Given the description of an element on the screen output the (x, y) to click on. 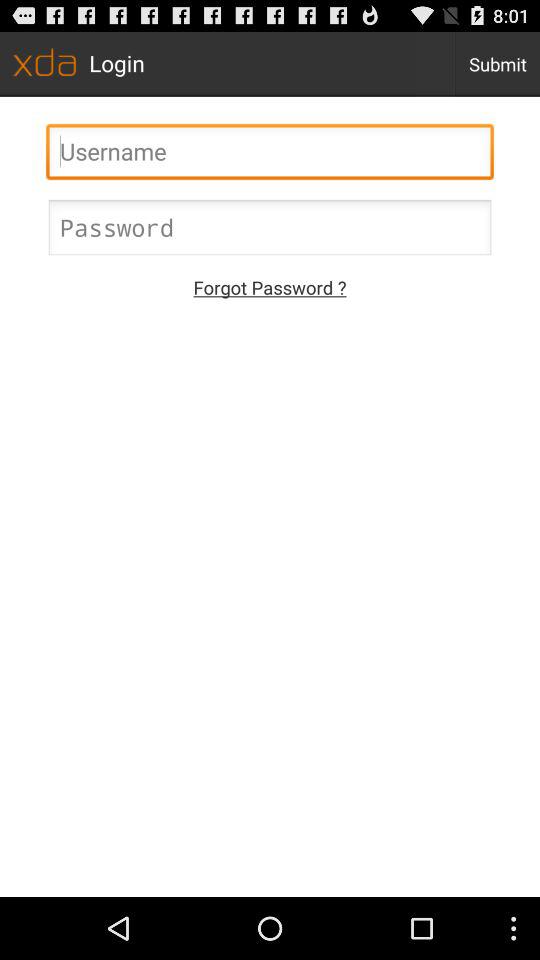
tap app to the right of the login (498, 63)
